Given the description of an element on the screen output the (x, y) to click on. 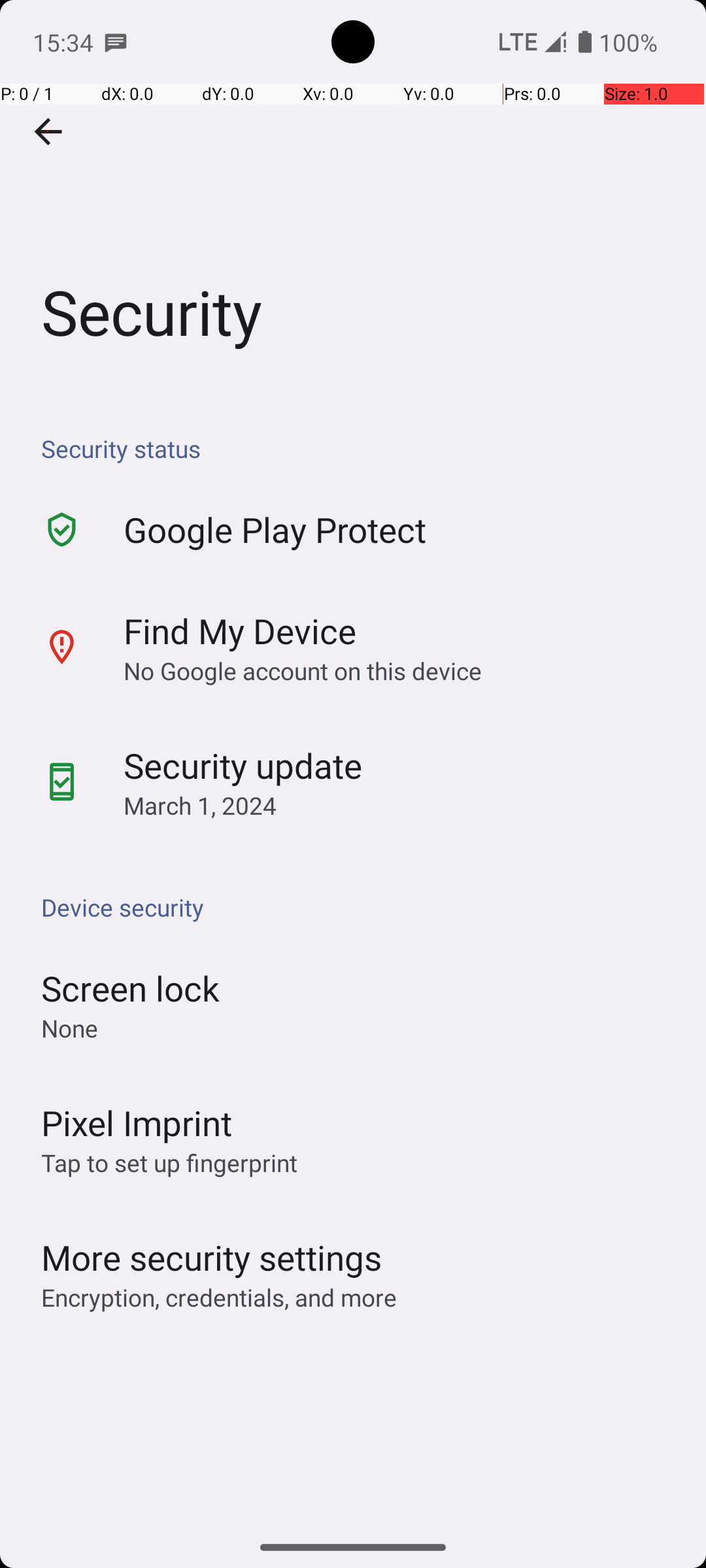
Security Element type: android.widget.FrameLayout (353, 195)
Security status Element type: android.widget.TextView (359, 448)
Google Play Protect Element type: android.widget.TextView (274, 529)
Find My Device Element type: android.widget.TextView (239, 630)
No Google account on this device Element type: android.widget.TextView (302, 670)
Security update Element type: android.widget.TextView (242, 765)
March 1, 2024 Element type: android.widget.TextView (199, 804)
Device security Element type: android.widget.TextView (359, 906)
Screen lock Element type: android.widget.TextView (130, 987)
Pixel Imprint Element type: android.widget.TextView (136, 1122)
Tap to set up fingerprint Element type: android.widget.TextView (169, 1162)
More security settings Element type: android.widget.TextView (211, 1257)
Encryption, credentials, and more Element type: android.widget.TextView (218, 1296)
